Given the description of an element on the screen output the (x, y) to click on. 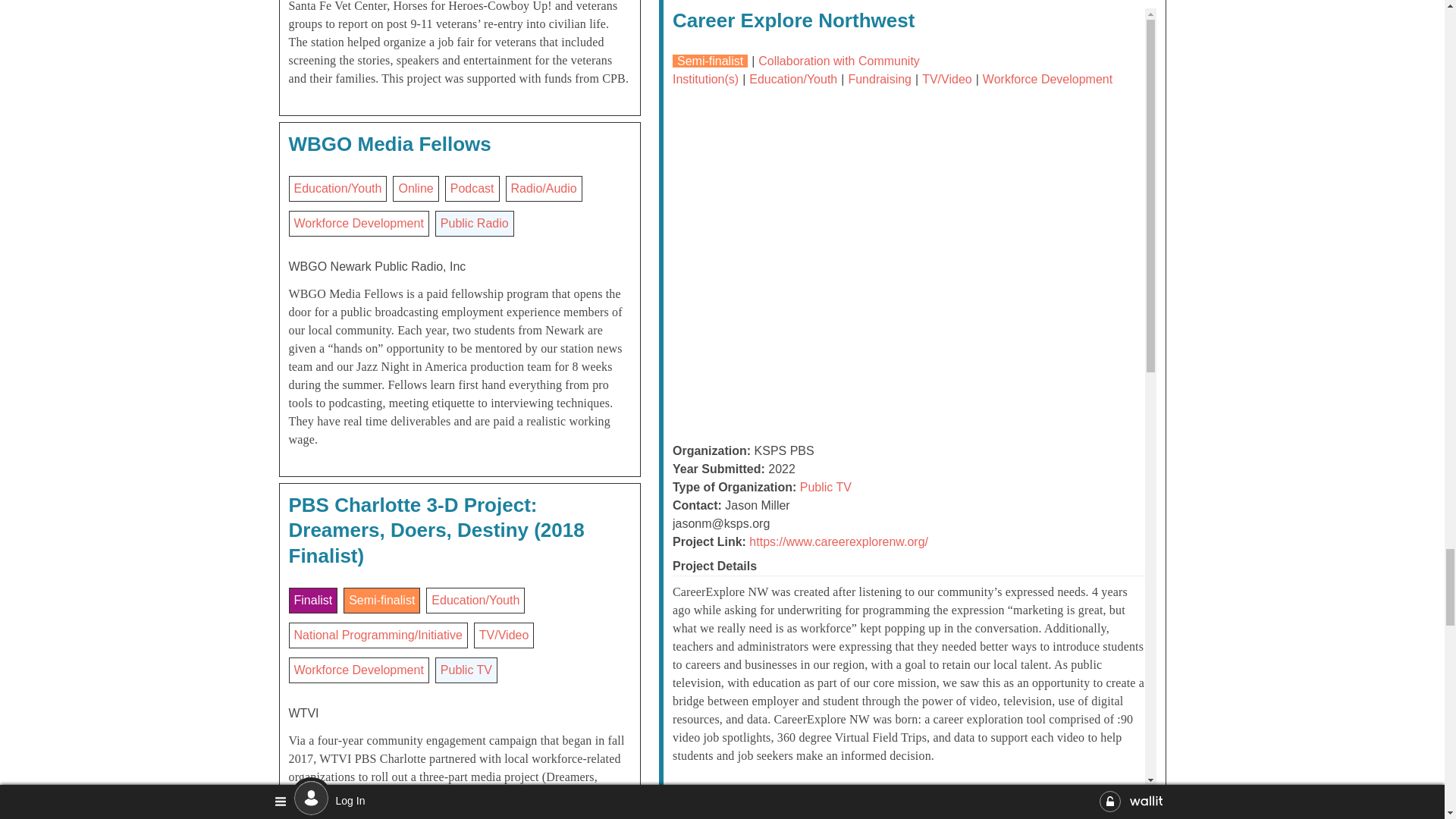
Permalink to WBGO Media Fellows (389, 143)
